Given the description of an element on the screen output the (x, y) to click on. 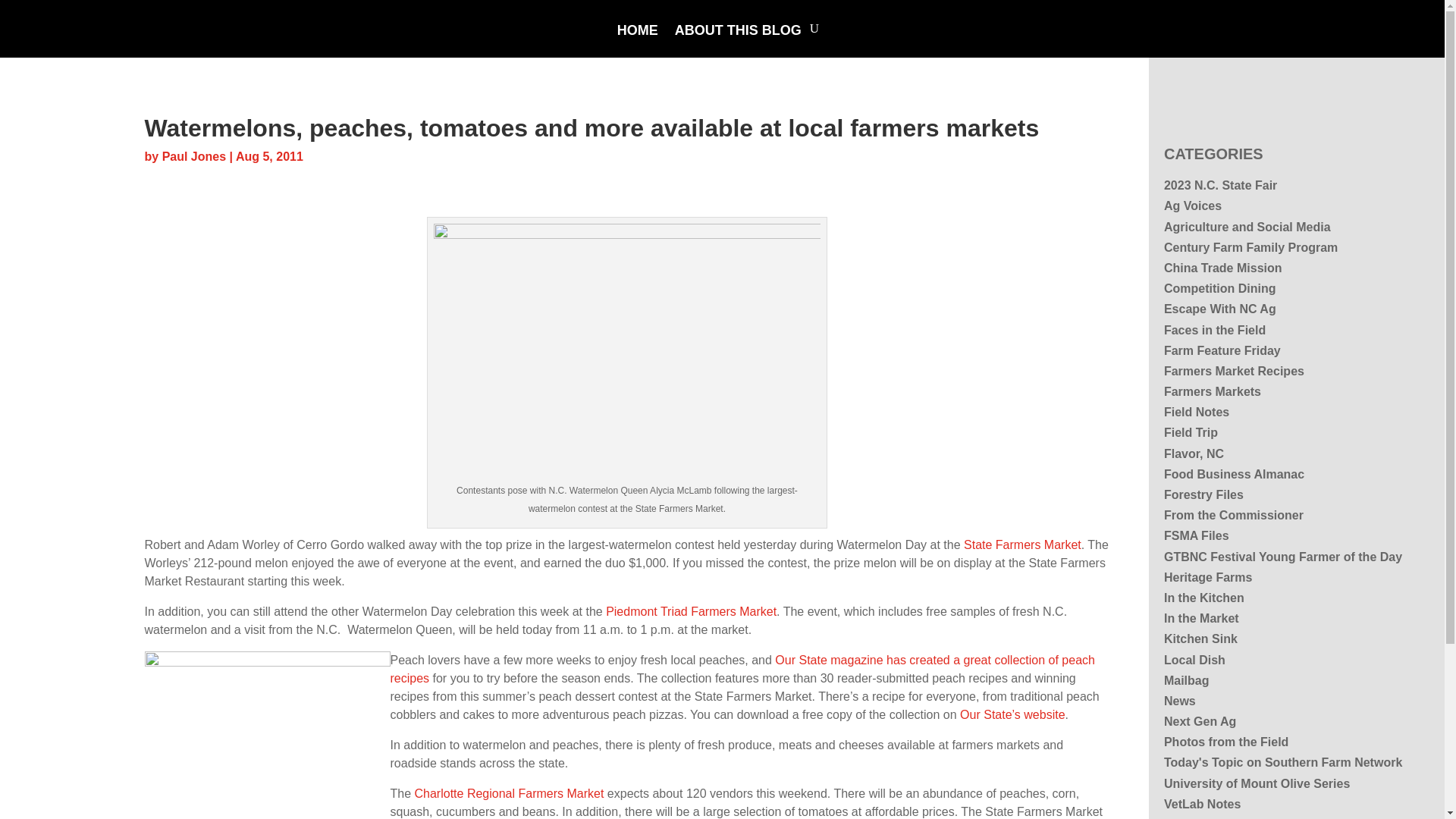
China Trade Mission (1222, 267)
2023 N.C. State Fair (1219, 185)
Flavor, NC (1193, 453)
Food Business Almanac (1233, 473)
Escape With NC Ag (1219, 308)
Farm Feature Friday (1222, 350)
State Farmers Market (1022, 544)
Watermelon Day 2011 (627, 351)
Forestry Files (1203, 494)
Farmers Markets (1211, 391)
Century Farm Family Program (1250, 246)
peachrecipe (267, 732)
Posts by Paul Jones (193, 155)
Faces in the Field (1214, 328)
